Given the description of an element on the screen output the (x, y) to click on. 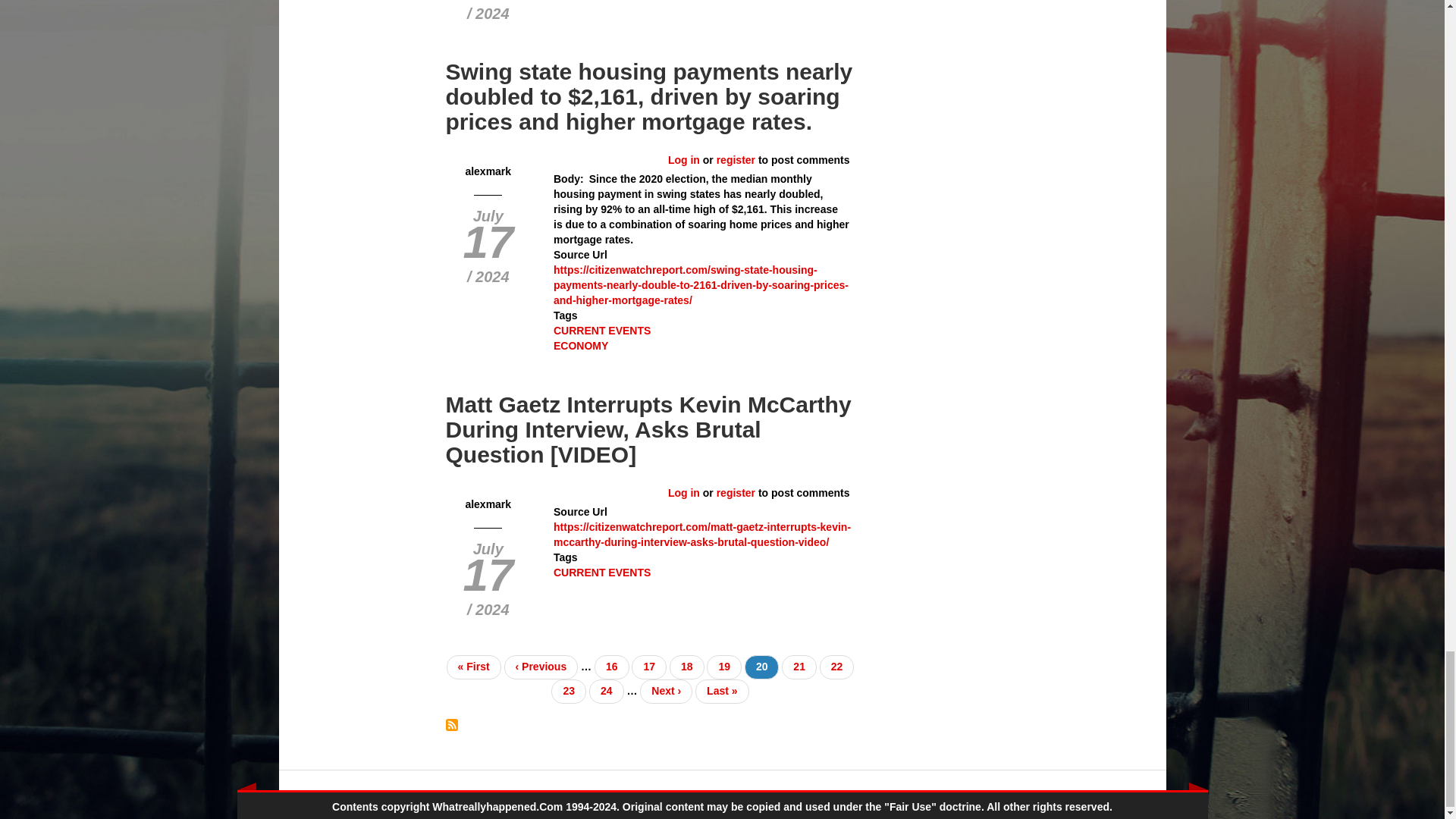
Go to page 17 (648, 667)
Go to next page (666, 691)
Current page (761, 667)
Go to page 19 (723, 667)
Go to page 16 (611, 667)
Go to page 22 (836, 667)
Go to last page (721, 691)
Go to page 18 (686, 667)
Go to page 21 (798, 667)
Go to page 23 (568, 691)
Go to page 24 (606, 691)
Go to first page (473, 667)
Go to previous page (540, 667)
